Given the description of an element on the screen output the (x, y) to click on. 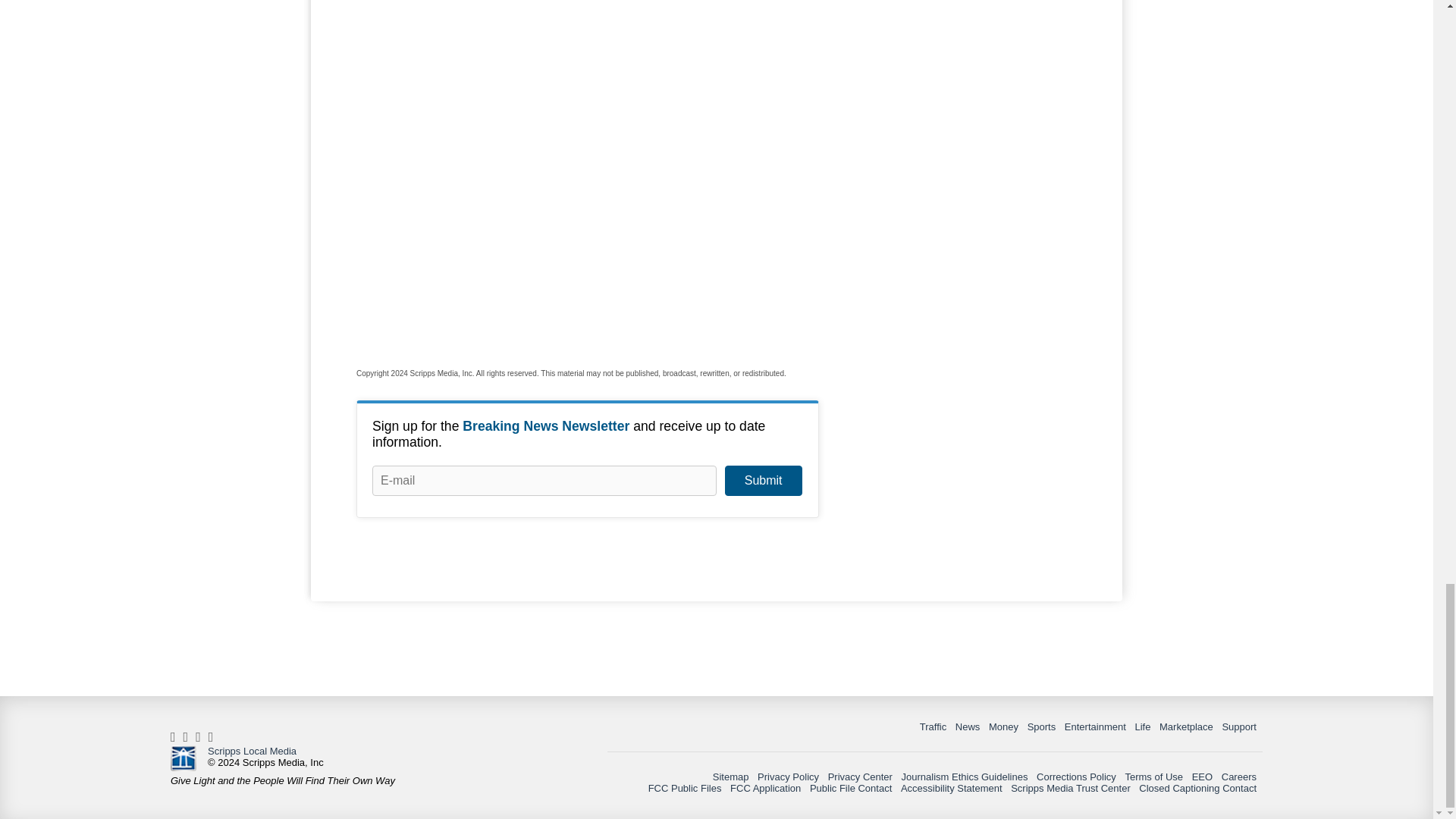
Submit (763, 481)
